Given the description of an element on the screen output the (x, y) to click on. 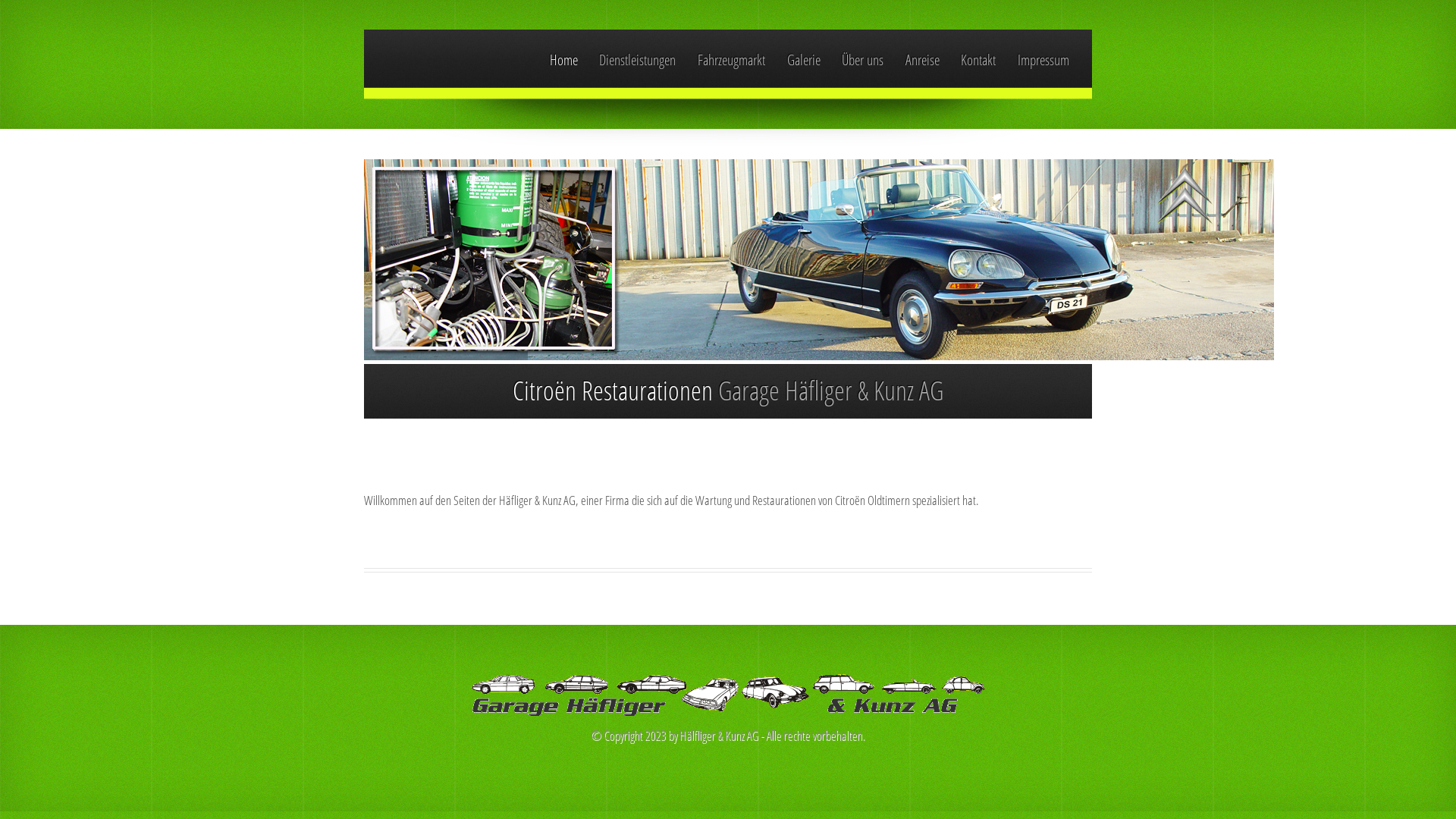
Impressum Element type: text (1043, 59)
Kontakt Element type: text (977, 59)
Dienstleistungen Element type: text (637, 59)
Home Element type: text (563, 59)
Fahrzeugmarkt Element type: text (731, 59)
Galerie Element type: text (803, 59)
Anreise Element type: text (922, 59)
